Given the description of an element on the screen output the (x, y) to click on. 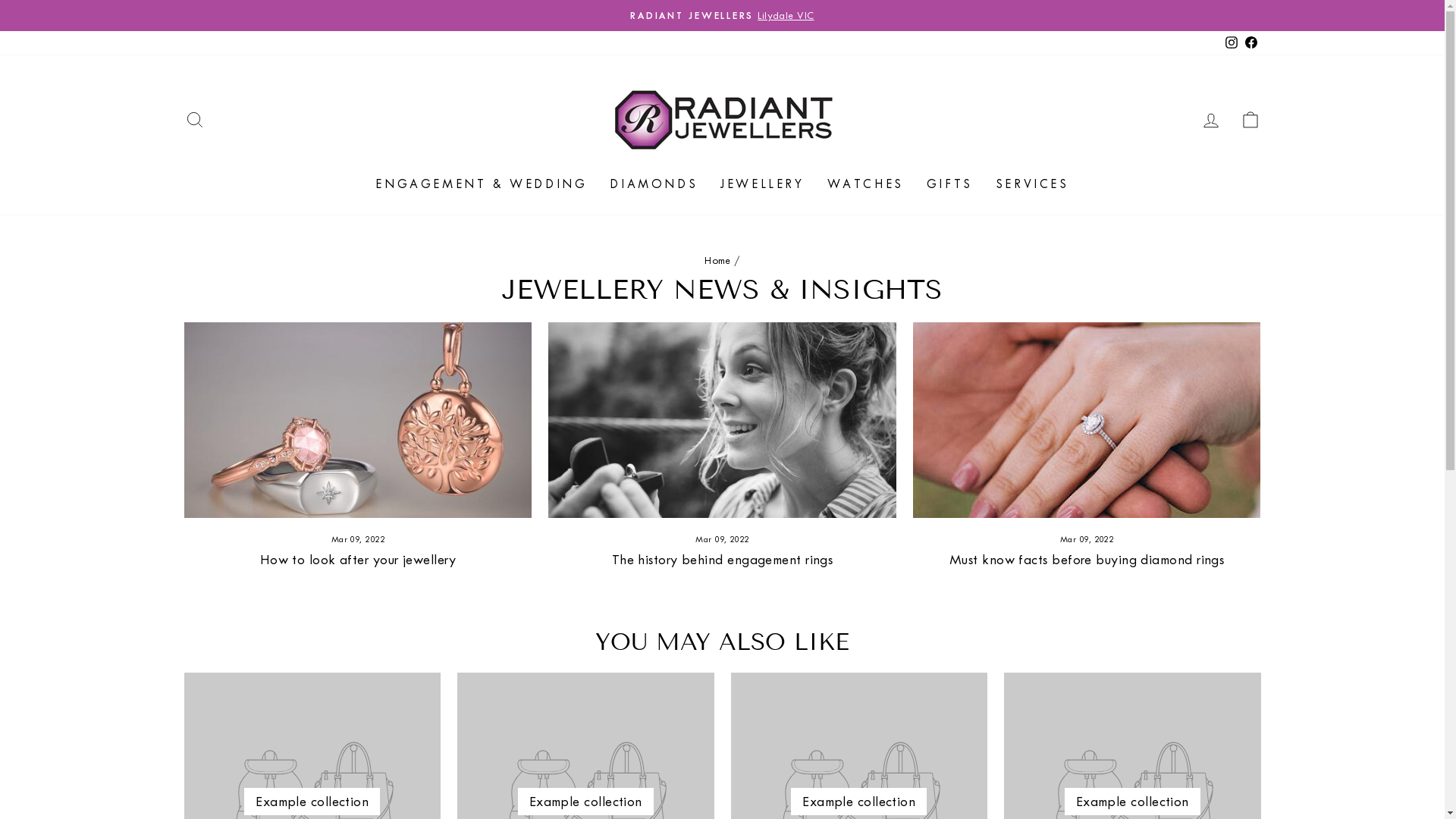
Home Element type: text (717, 260)
JEWELLERY Element type: text (762, 183)
Skip to content Element type: text (0, 0)
Facebook Element type: text (1250, 42)
How to look after your jewellery Element type: text (357, 559)
GIFTS Element type: text (949, 183)
DIAMONDS Element type: text (653, 183)
The history behind engagement rings Element type: text (722, 559)
SERVICES Element type: text (1032, 183)
Instagram Element type: text (1230, 42)
LOG IN Element type: text (1210, 119)
RADIANT JEWELLERSLilydale VIC Element type: text (722, 15)
CART Element type: text (1249, 119)
Must know facts before buying diamond rings Element type: text (1086, 559)
WATCHES Element type: text (865, 183)
ENGAGEMENT & WEDDING Element type: text (481, 183)
SEARCH Element type: text (193, 119)
